Given the description of an element on the screen output the (x, y) to click on. 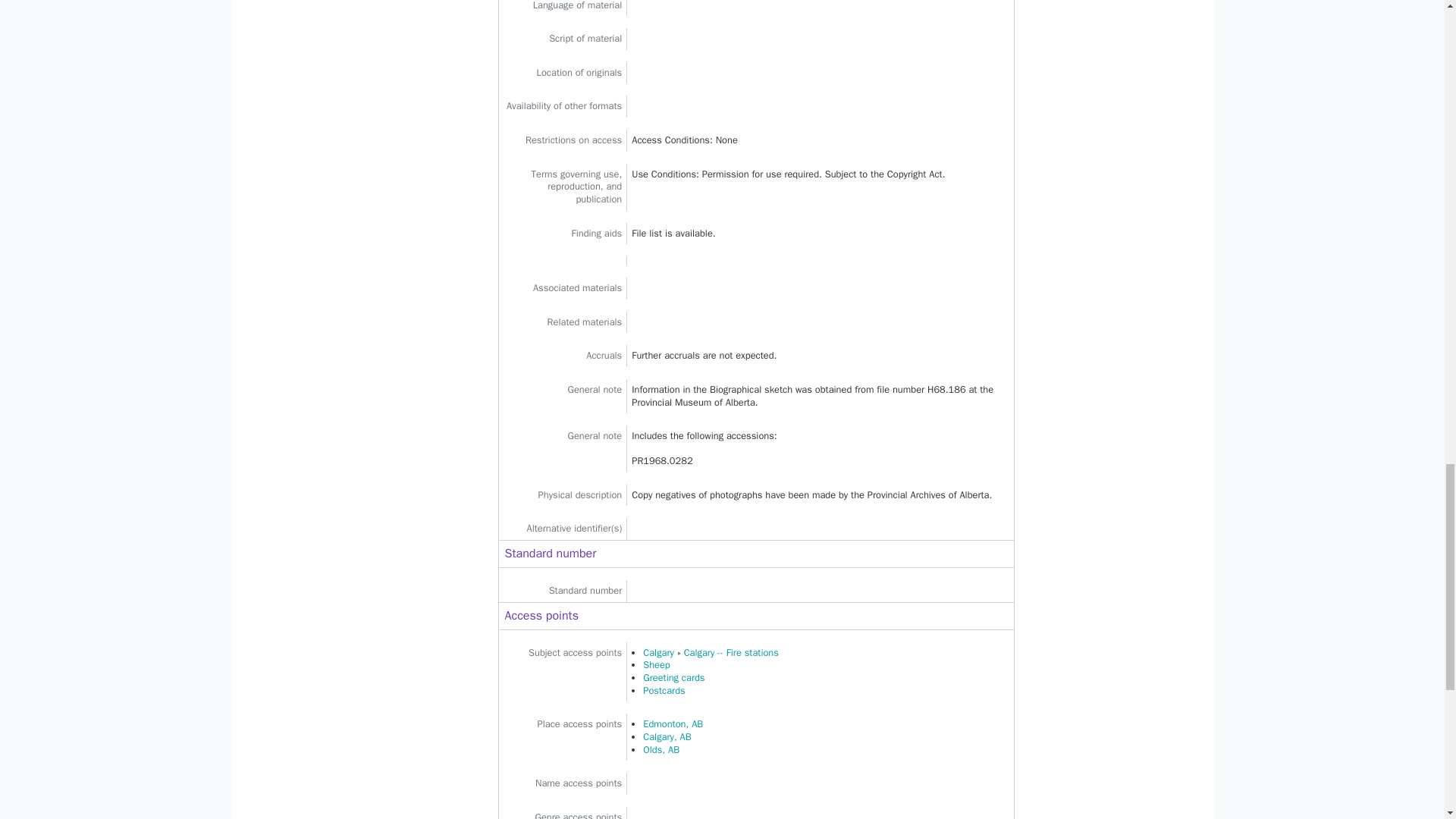
Calgary, AB (666, 736)
Calgary -- Fire stations (731, 653)
Greeting cards (673, 677)
Olds, AB (661, 749)
Edmonton, AB (673, 724)
Calgary (658, 653)
Greeting cards (673, 677)
Edmonton, AB (673, 724)
Postcards (663, 690)
Calgary -- Fire stations (731, 653)
Sheep (656, 664)
Postcards (663, 690)
Calgary (658, 653)
Sheep (656, 664)
